Given the description of an element on the screen output the (x, y) to click on. 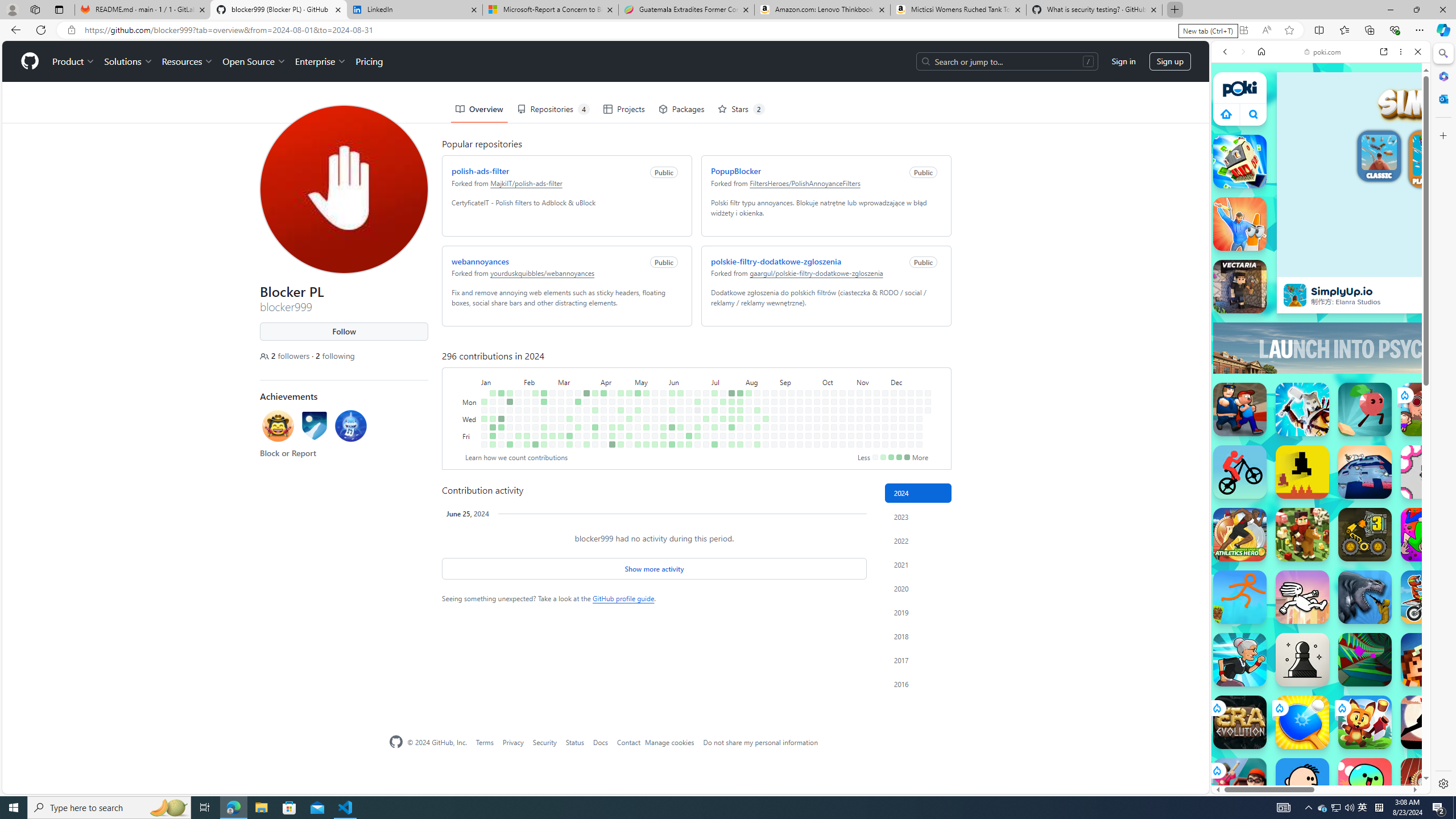
No contributions on May 6th. (637, 401)
1 contribution on May 31st. (663, 435)
February (540, 380)
Ping Pong Go! (1302, 722)
No contributions on August 31st. (774, 444)
No contributions on February 6th. (526, 410)
Stack City Stack City (1239, 161)
7 contributions on January 11th. (492, 427)
Follow (344, 331)
November (872, 380)
No contributions on August 20th. (765, 410)
1 contribution on February 2nd. (518, 435)
No contributions on May 10th. (637, 435)
1 contribution on May 18th. (646, 444)
Up Together (1364, 409)
